Given the description of an element on the screen output the (x, y) to click on. 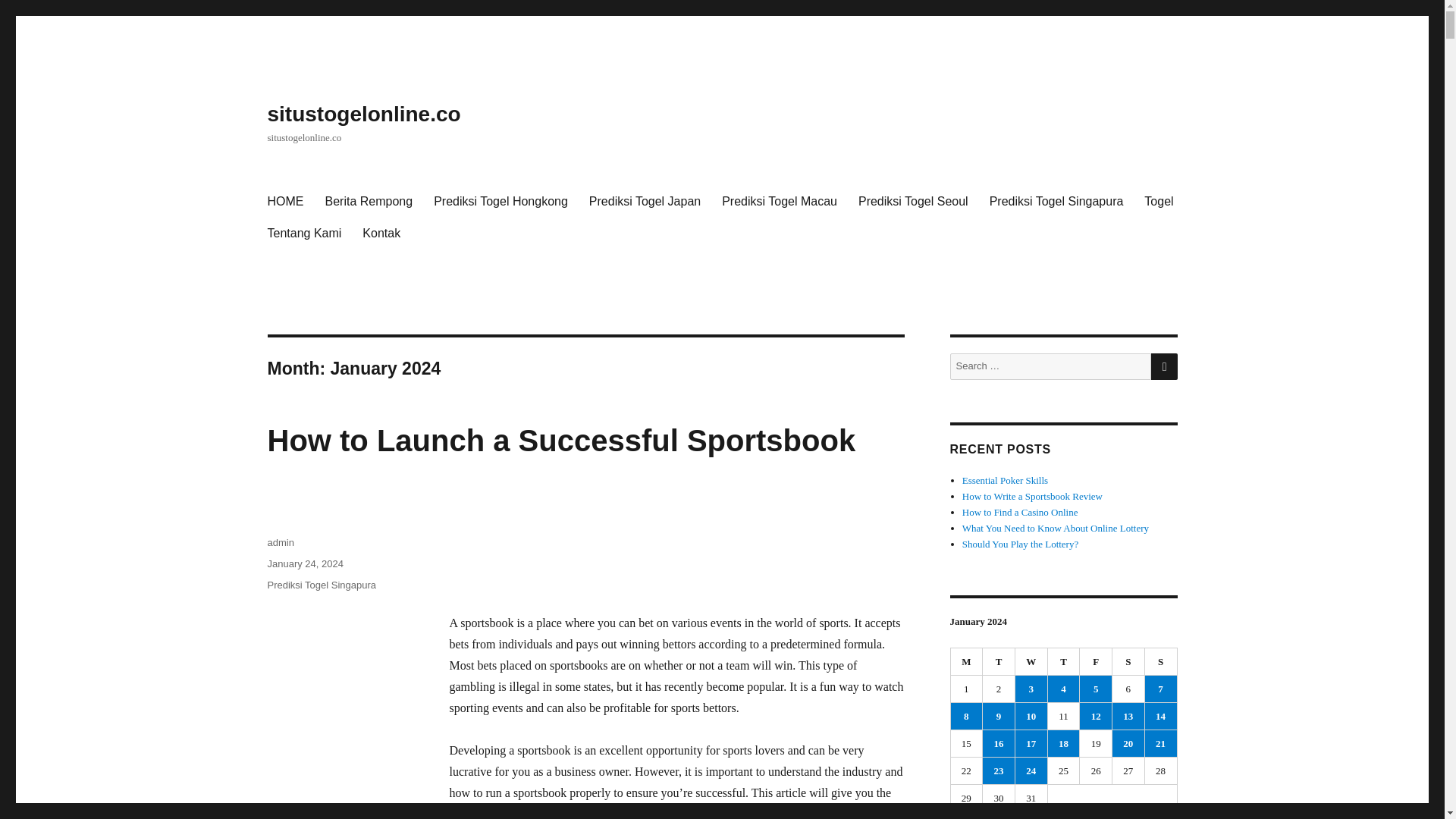
HOME (285, 201)
Friday (1096, 661)
Tuesday (998, 661)
Tentang Kami (304, 233)
situstogelonline.co (363, 114)
Sunday (1160, 661)
January 24, 2024 (304, 563)
Prediksi Togel Singapura (1056, 201)
admin (280, 542)
Prediksi Togel Singapura (320, 584)
Prediksi Togel Seoul (912, 201)
Monday (967, 661)
Togel (1158, 201)
Kontak (381, 233)
Prediksi Togel Hongkong (500, 201)
